Given the description of an element on the screen output the (x, y) to click on. 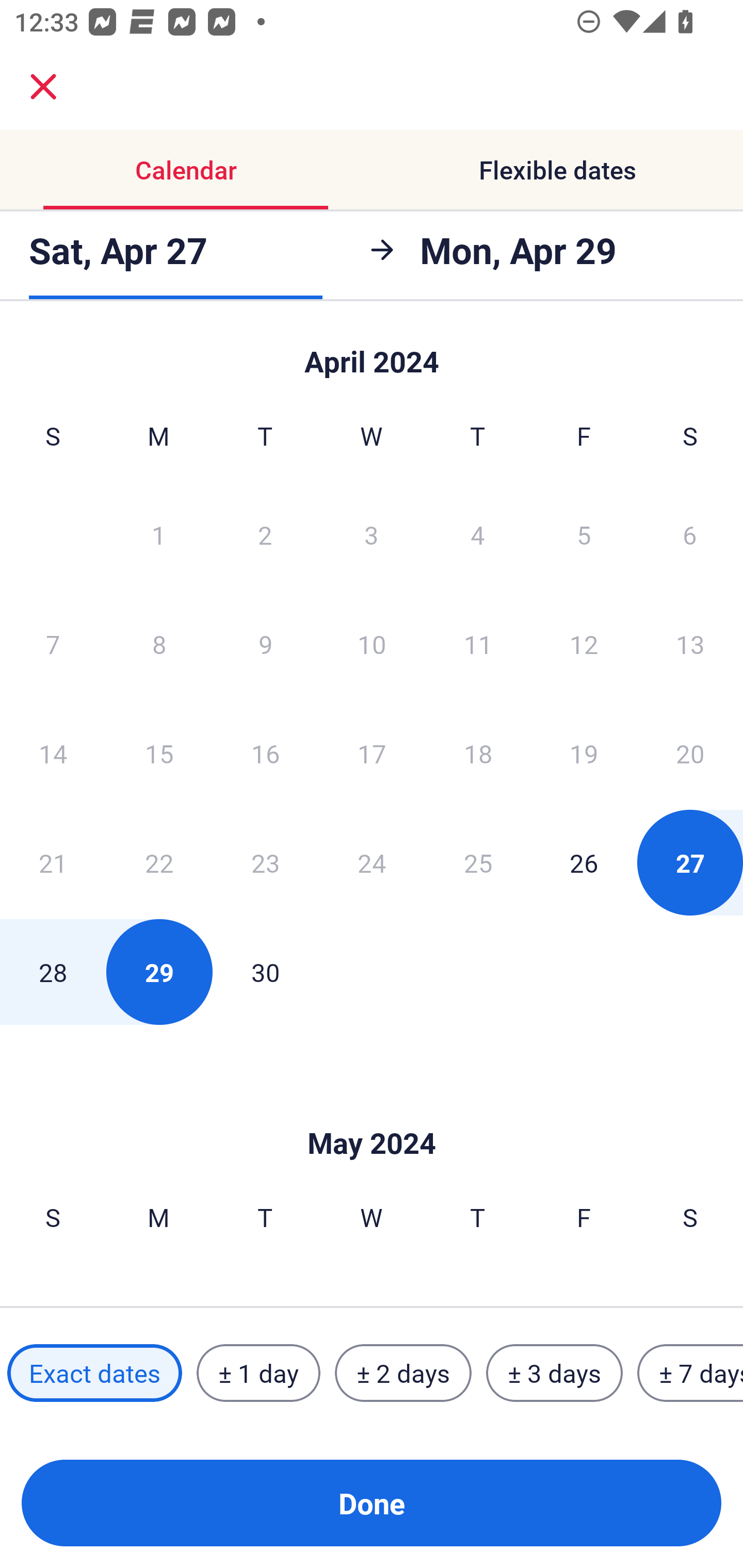
close. (43, 86)
Flexible dates (557, 170)
Skip to Done (371, 352)
1 Monday, April 1, 2024 (158, 534)
2 Tuesday, April 2, 2024 (264, 534)
3 Wednesday, April 3, 2024 (371, 534)
4 Thursday, April 4, 2024 (477, 534)
5 Friday, April 5, 2024 (583, 534)
6 Saturday, April 6, 2024 (689, 534)
7 Sunday, April 7, 2024 (53, 643)
8 Monday, April 8, 2024 (159, 643)
9 Tuesday, April 9, 2024 (265, 643)
10 Wednesday, April 10, 2024 (371, 643)
11 Thursday, April 11, 2024 (477, 643)
12 Friday, April 12, 2024 (584, 643)
13 Saturday, April 13, 2024 (690, 643)
14 Sunday, April 14, 2024 (53, 752)
15 Monday, April 15, 2024 (159, 752)
16 Tuesday, April 16, 2024 (265, 752)
17 Wednesday, April 17, 2024 (371, 752)
18 Thursday, April 18, 2024 (477, 752)
19 Friday, April 19, 2024 (584, 752)
20 Saturday, April 20, 2024 (690, 752)
21 Sunday, April 21, 2024 (53, 862)
22 Monday, April 22, 2024 (159, 862)
23 Tuesday, April 23, 2024 (265, 862)
24 Wednesday, April 24, 2024 (371, 862)
25 Thursday, April 25, 2024 (477, 862)
26 Friday, April 26, 2024 (584, 862)
30 Tuesday, April 30, 2024 (265, 971)
Skip to Done (371, 1112)
Exact dates (94, 1372)
± 1 day (258, 1372)
± 2 days (403, 1372)
± 3 days (553, 1372)
± 7 days (690, 1372)
Done (371, 1502)
